Given the description of an element on the screen output the (x, y) to click on. 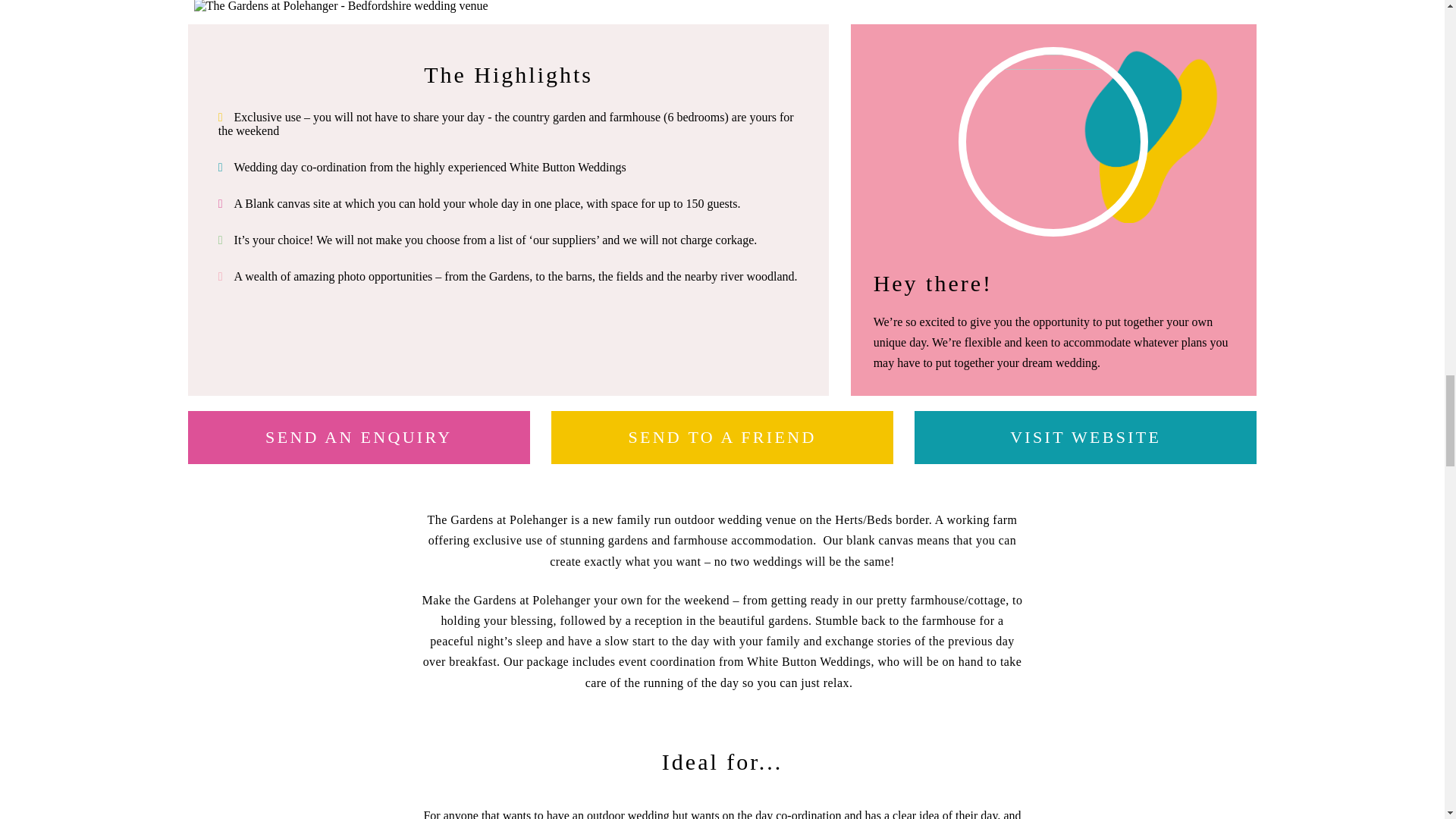
SEND AN ENQUIRY (358, 437)
VISIT WEBSITE (1085, 437)
SEND TO A FRIEND (722, 437)
